Given the description of an element on the screen output the (x, y) to click on. 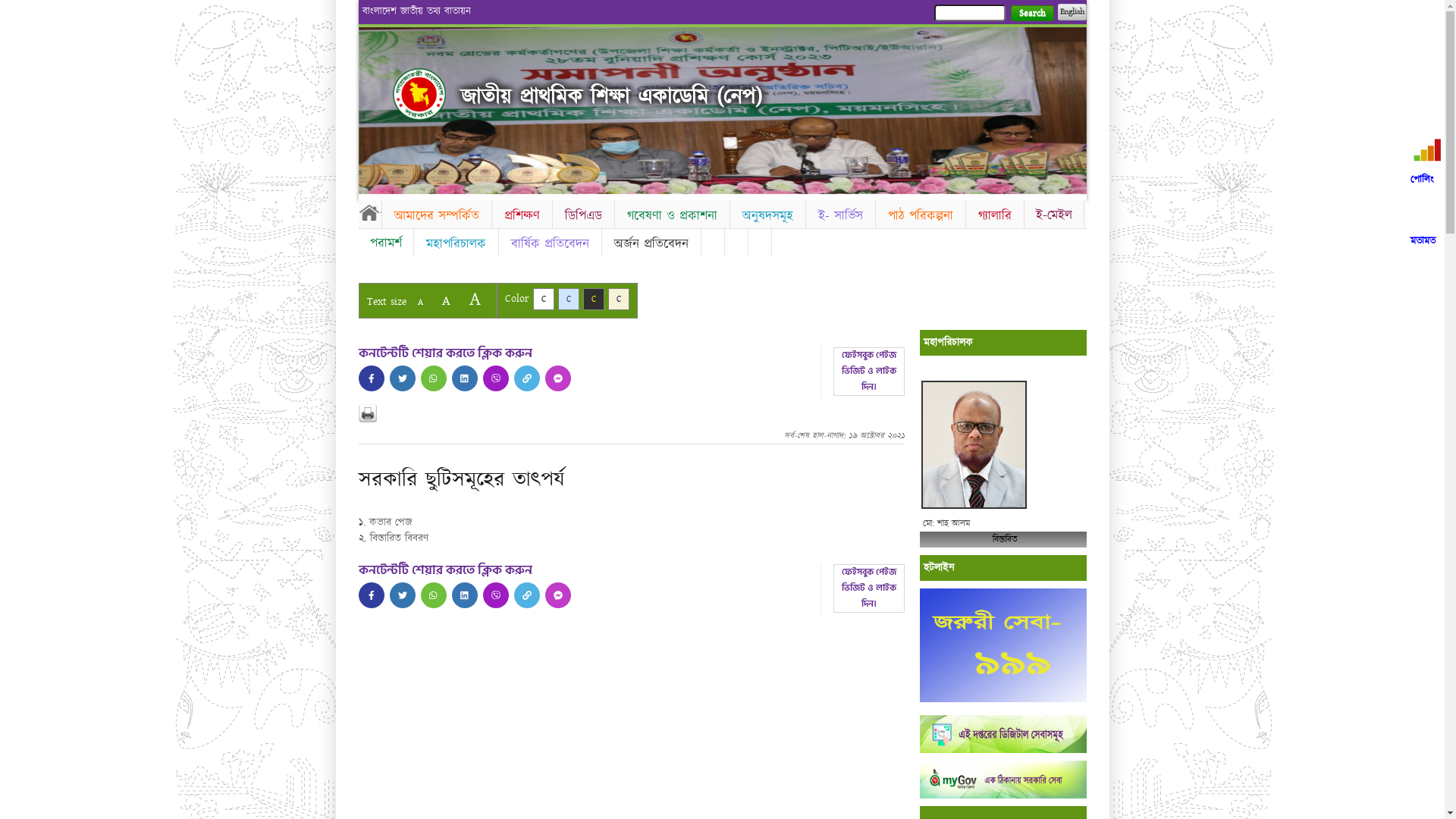
A Element type: text (419, 301)
English Element type: text (1071, 11)
C Element type: text (568, 299)
C Element type: text (618, 299)
C Element type: text (542, 299)
Home Element type: hover (418, 93)
C Element type: text (592, 299)
Home Element type: hover (368, 211)
A Element type: text (445, 300)
A Element type: text (474, 298)
Search Element type: text (1031, 13)
